Given the description of an element on the screen output the (x, y) to click on. 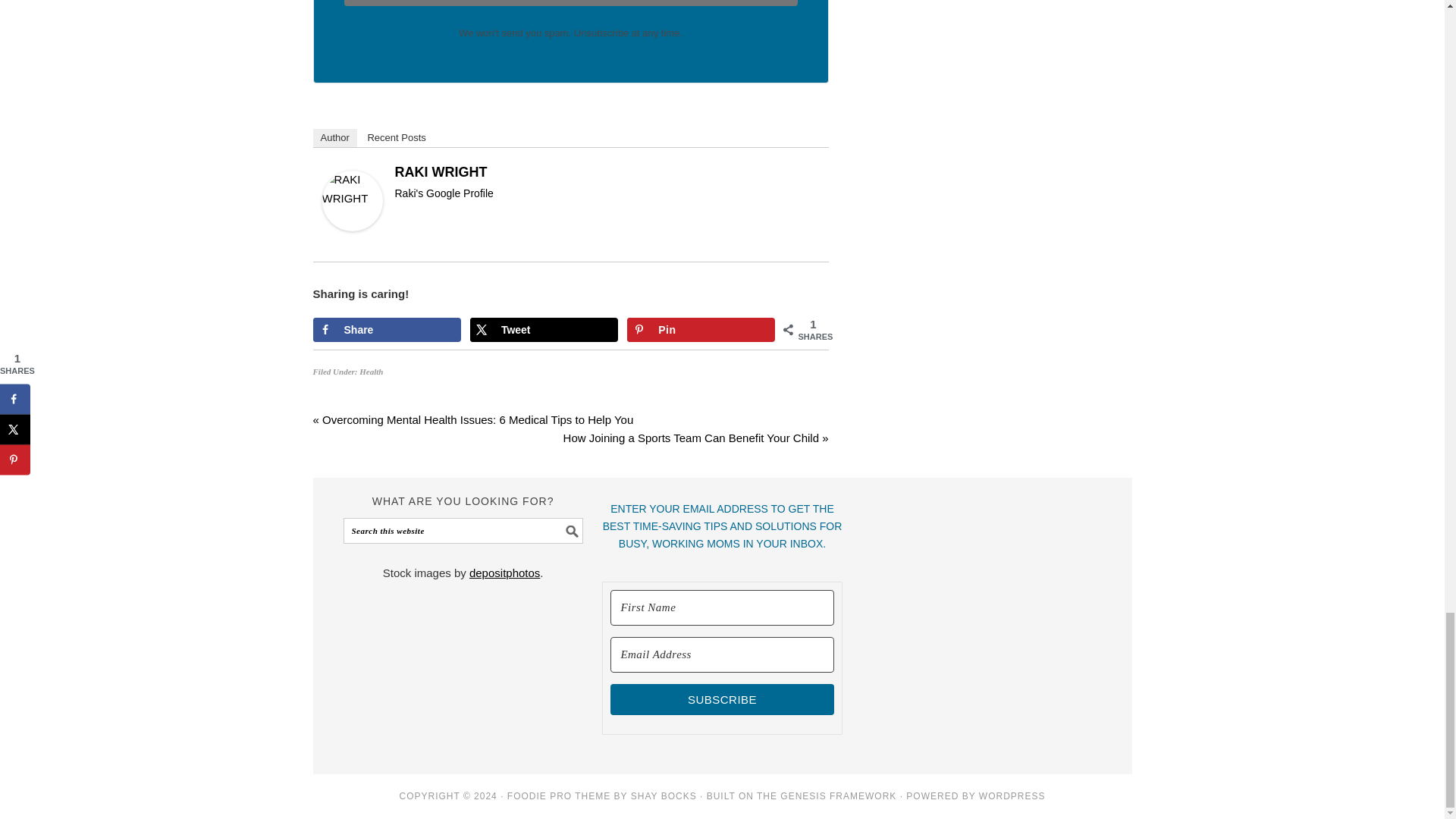
Share on X (543, 329)
Save to Pinterest (700, 329)
Share on Facebook (386, 329)
